Given the description of an element on the screen output the (x, y) to click on. 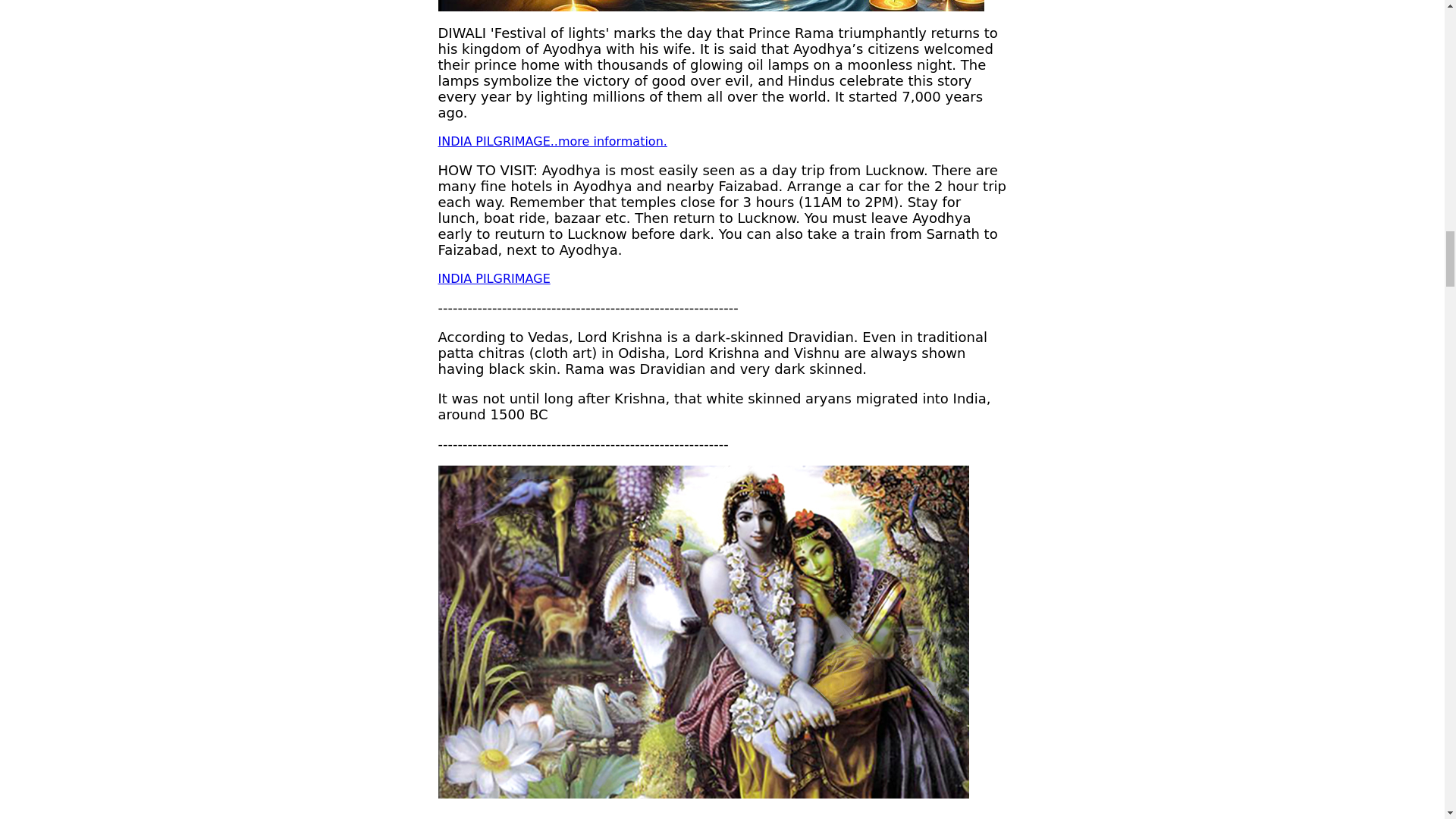
INDIA PILGRIMAGE (494, 278)
INDIA PILGRIMAGE..more information. (552, 141)
